Given the description of an element on the screen output the (x, y) to click on. 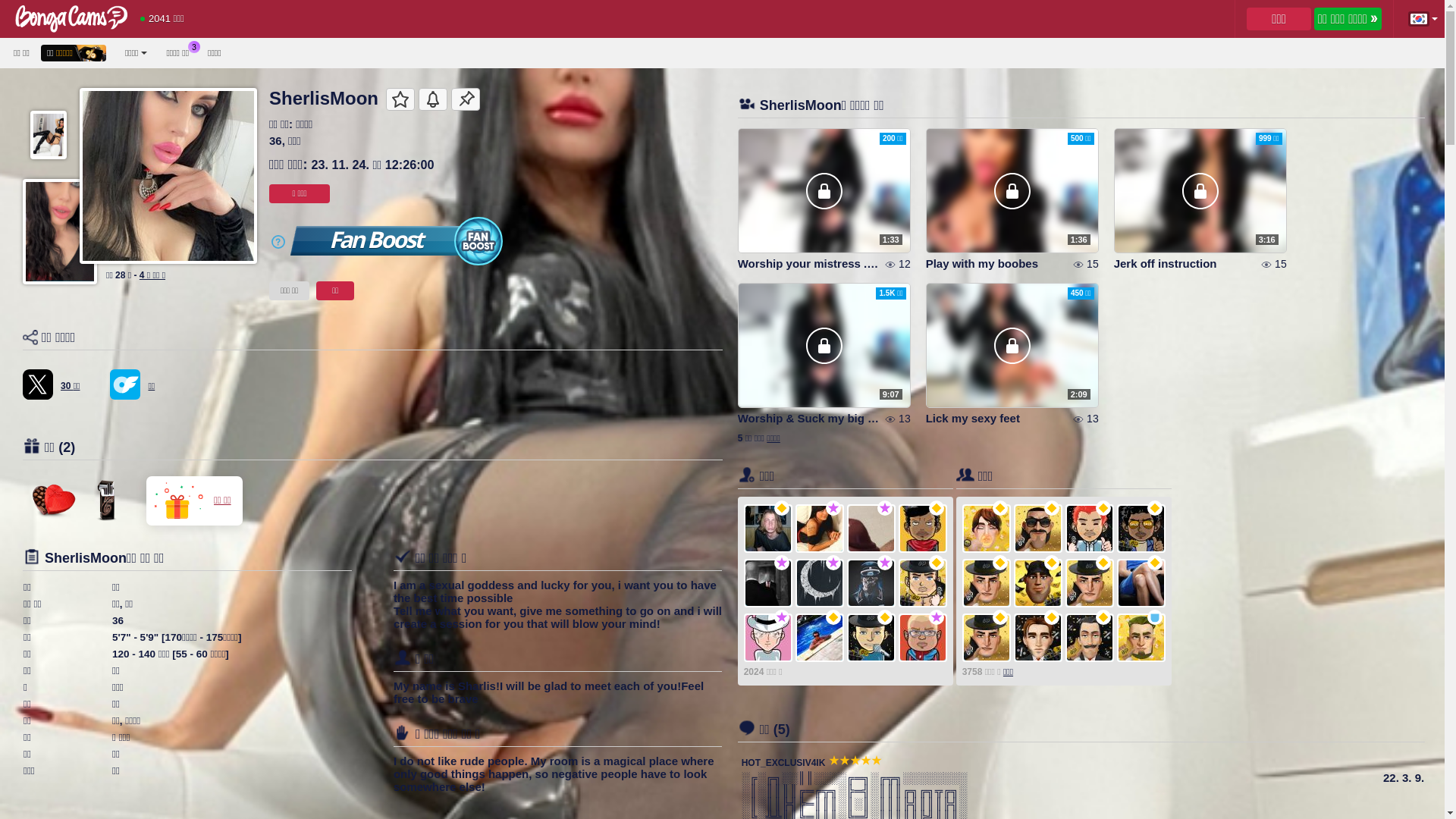
Unlimited Element type: hover (884, 507)
GRES75910 Element type: hover (1089, 582)
Gold Element type: hover (936, 562)
Gold Element type: hover (1051, 616)
HappyHoppy Element type: hover (871, 528)
Gold Element type: hover (1102, 507)
JOIN ME NOW GUYS Element type: hover (37, 384)
Gold Element type: hover (1102, 616)
__Lana Element type: hover (1141, 582)
Gold Element type: hover (781, 507)
Gold Element type: hover (884, 616)
suckyournipples Element type: hover (986, 582)
Gold Element type: hover (1102, 562)
Gold Element type: hover (1051, 507)
donvan Element type: hover (767, 528)
redline_ Element type: hover (819, 637)
Aab1986 Element type: hover (1037, 528)
Unlimited Element type: hover (781, 562)
adradr Element type: hover (922, 637)
You are very sexy !!! Element type: hover (105, 500)
Gold Element type: hover (999, 616)
artuuurs Element type: hover (767, 582)
Igorek23-11 Element type: hover (1037, 582)
Gold Element type: hover (1154, 507)
adonis1155 Element type: hover (1141, 528)
Gold Element type: hover (1051, 562)
Unlimited Element type: hover (884, 562)
cica Element type: hover (922, 528)
Gold Element type: hover (999, 507)
Fireaqua777 Element type: hover (986, 637)
Pussikiller-1 Element type: hover (1141, 637)
-BlackBlood- Element type: hover (819, 582)
PB28 Element type: hover (922, 582)
HOT_EXCLUSIV4IK Element type: text (783, 762)
69Jenya Element type: hover (1089, 528)
Unlimited Element type: hover (832, 562)
speas Element type: hover (767, 637)
crocopan Element type: hover (819, 528)
Fan Boost Element type: text (396, 240)
Gold Element type: hover (1154, 562)
Gold Element type: hover (936, 507)
Gold Element type: hover (832, 616)
Unlimited Element type: hover (832, 507)
Gold Element type: hover (999, 562)
lovewomannnzz Element type: hover (1037, 637)
Bwyrgiusz123 Element type: hover (986, 528)
LUCKYLUCIANOOO Element type: hover (871, 582)
Platinum Element type: hover (1154, 616)
MnePloxoSegodnya Element type: hover (1089, 637)
Unlimited Element type: hover (781, 616)
capsh Element type: hover (871, 637)
Unlimited Element type: hover (936, 616)
